Given the description of an element on the screen output the (x, y) to click on. 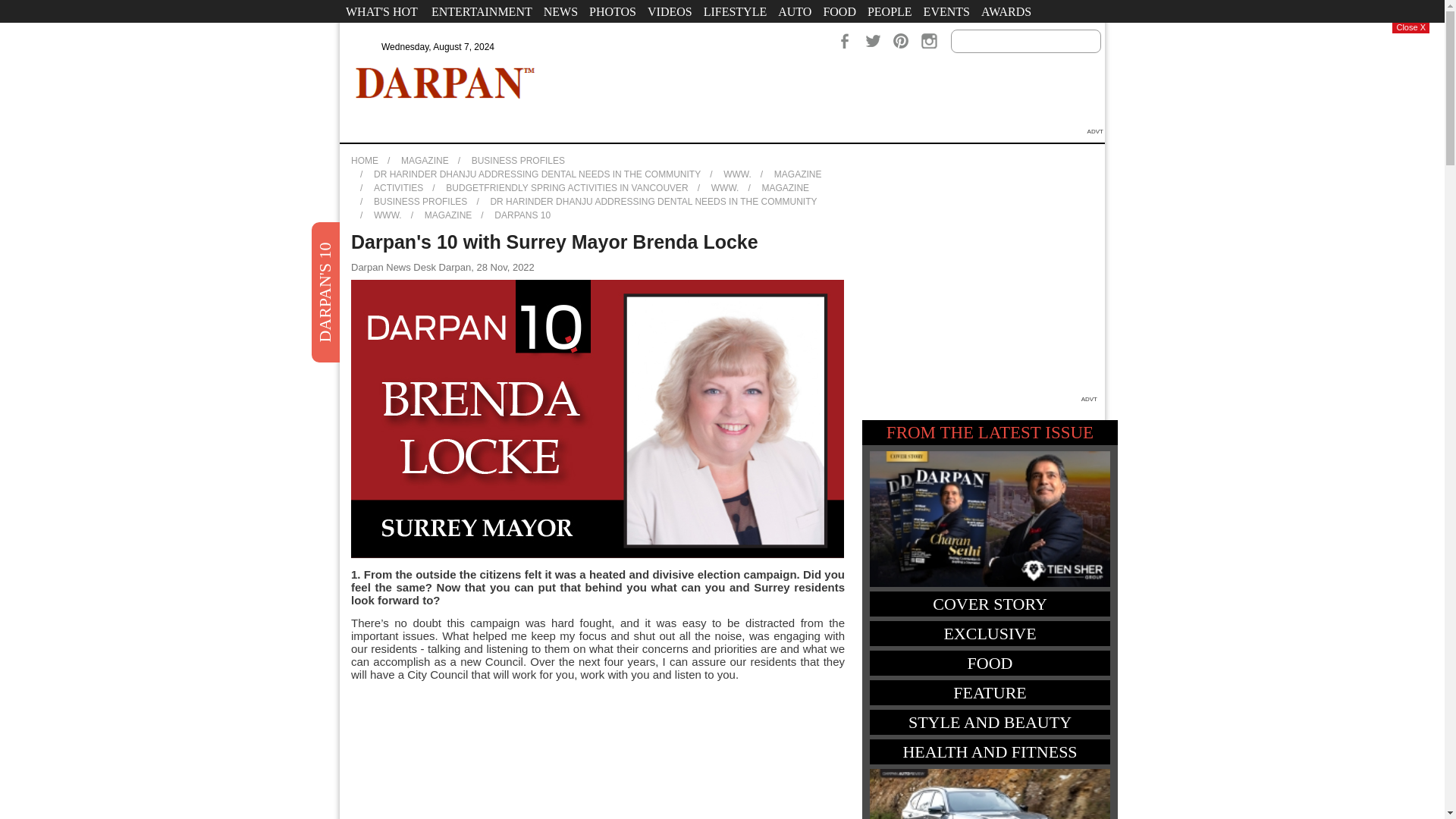
News (560, 11)
BUSINESS PROFILES (517, 160)
Auto (794, 11)
AUTO (794, 11)
WWW. (725, 187)
Close X (1410, 27)
LIFESTYLE (735, 11)
VIDEOS (669, 11)
ENTERTAINMENT (481, 11)
PHOTOS (612, 11)
MAGAZINE (469, 33)
NEWS (560, 11)
EVENTS (947, 11)
Entertainment (481, 11)
FOOD (839, 11)
